Given the description of an element on the screen output the (x, y) to click on. 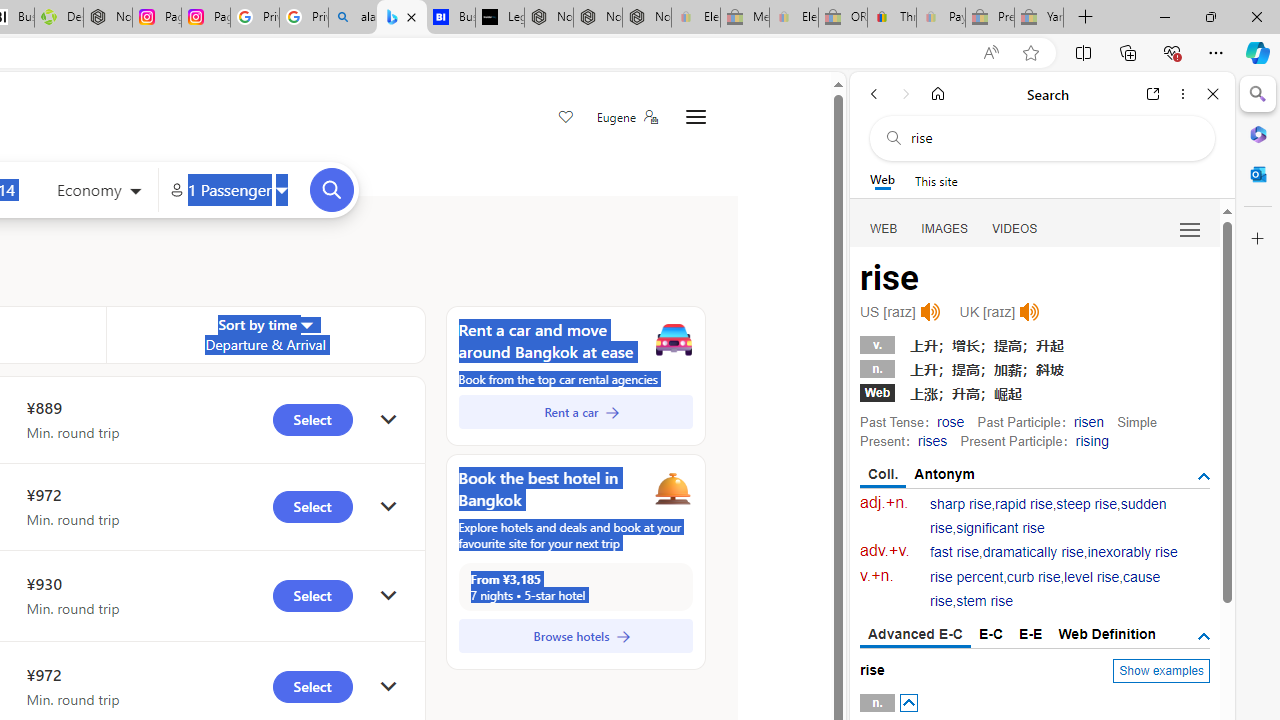
sharp rise (961, 503)
Antonym (945, 473)
WEB (884, 228)
